Given the description of an element on the screen output the (x, y) to click on. 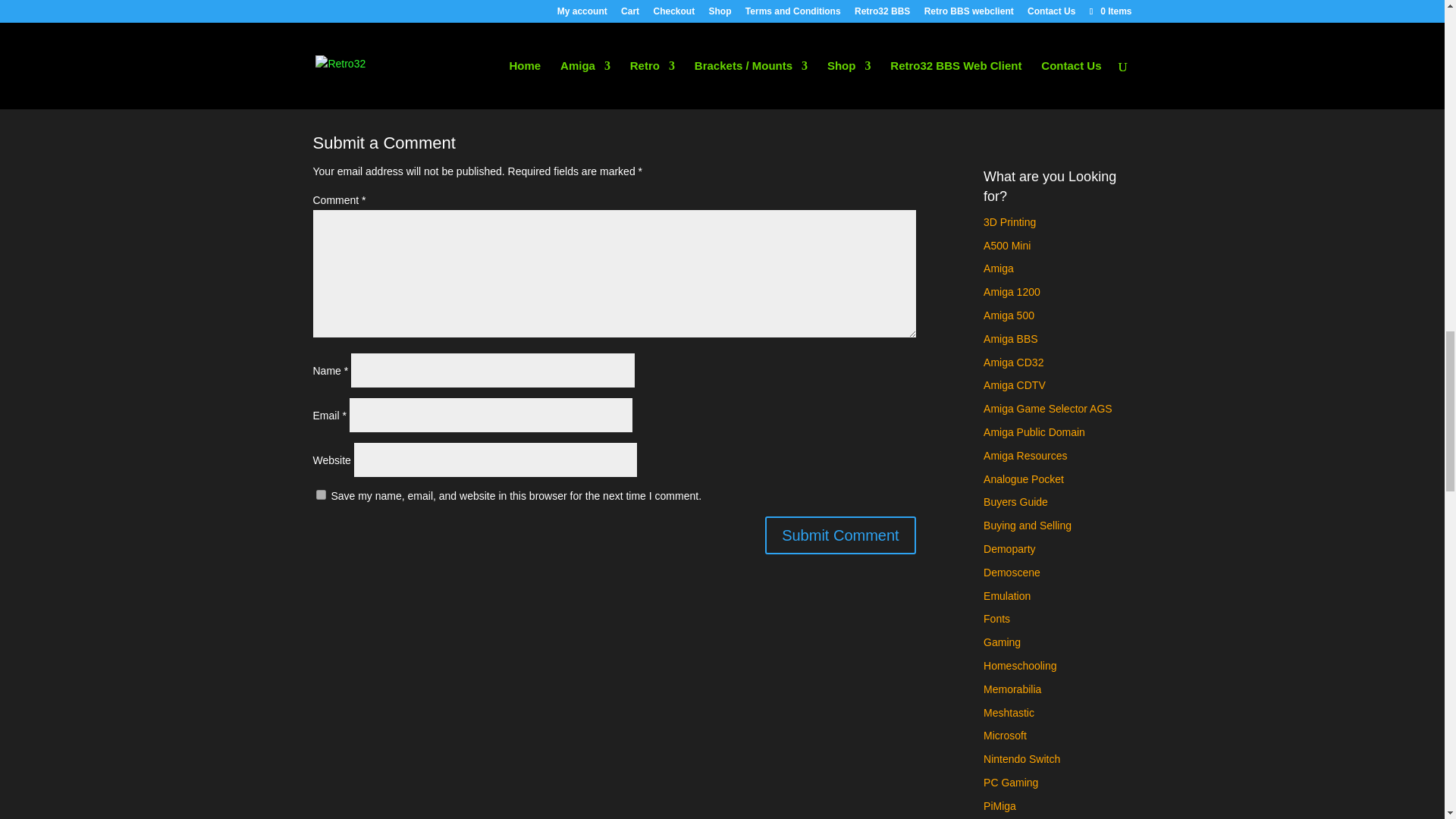
yes (319, 494)
Submit Comment (840, 535)
